Given the description of an element on the screen output the (x, y) to click on. 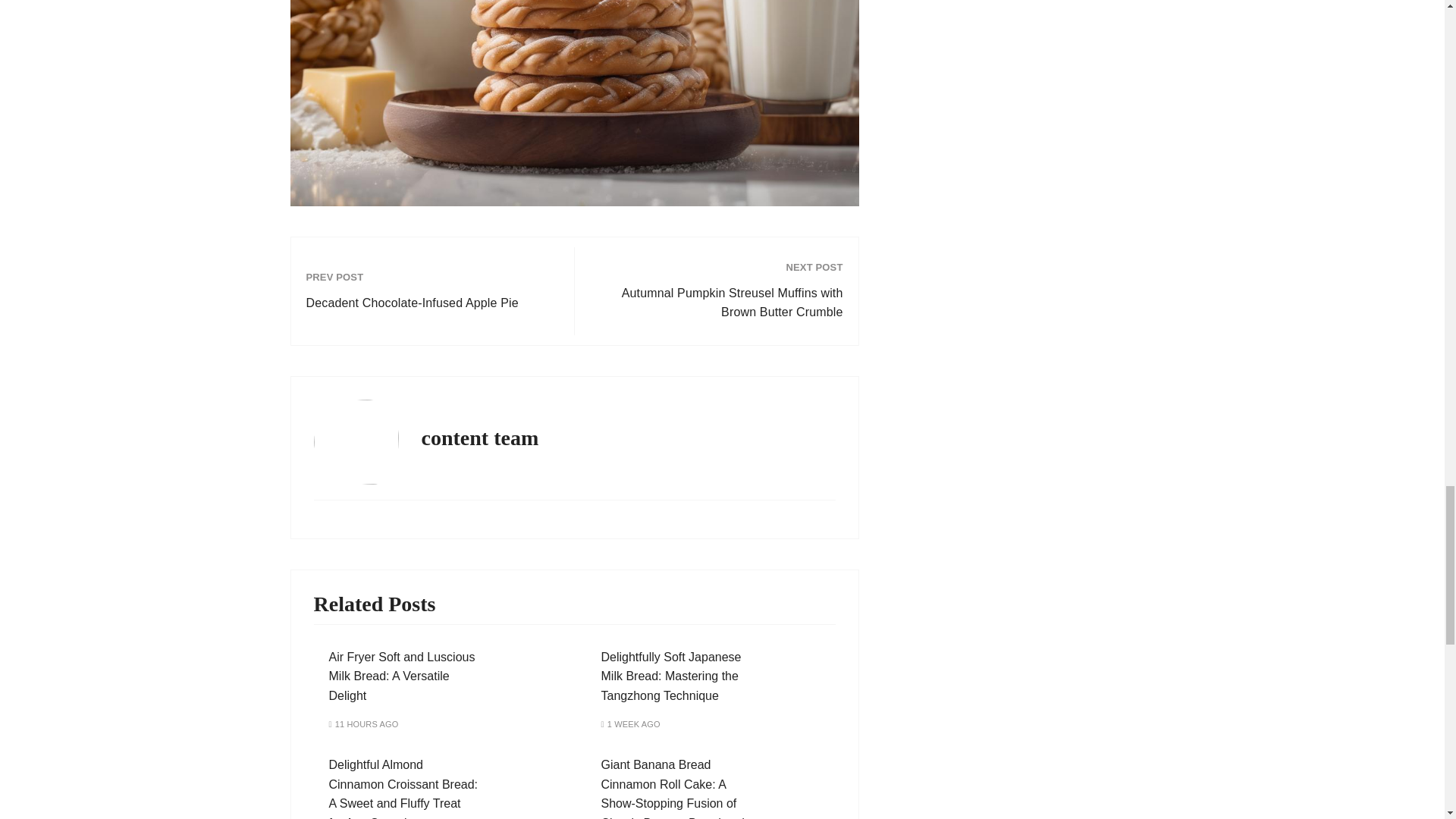
Decadent Chocolate-Infused Apple Pie (432, 302)
Air Fryer Soft and Luscious Milk Bread: A Versatile Delight (402, 675)
Autumnal Pumpkin Streusel Muffins with Brown Butter Crumble (716, 302)
